Given the description of an element on the screen output the (x, y) to click on. 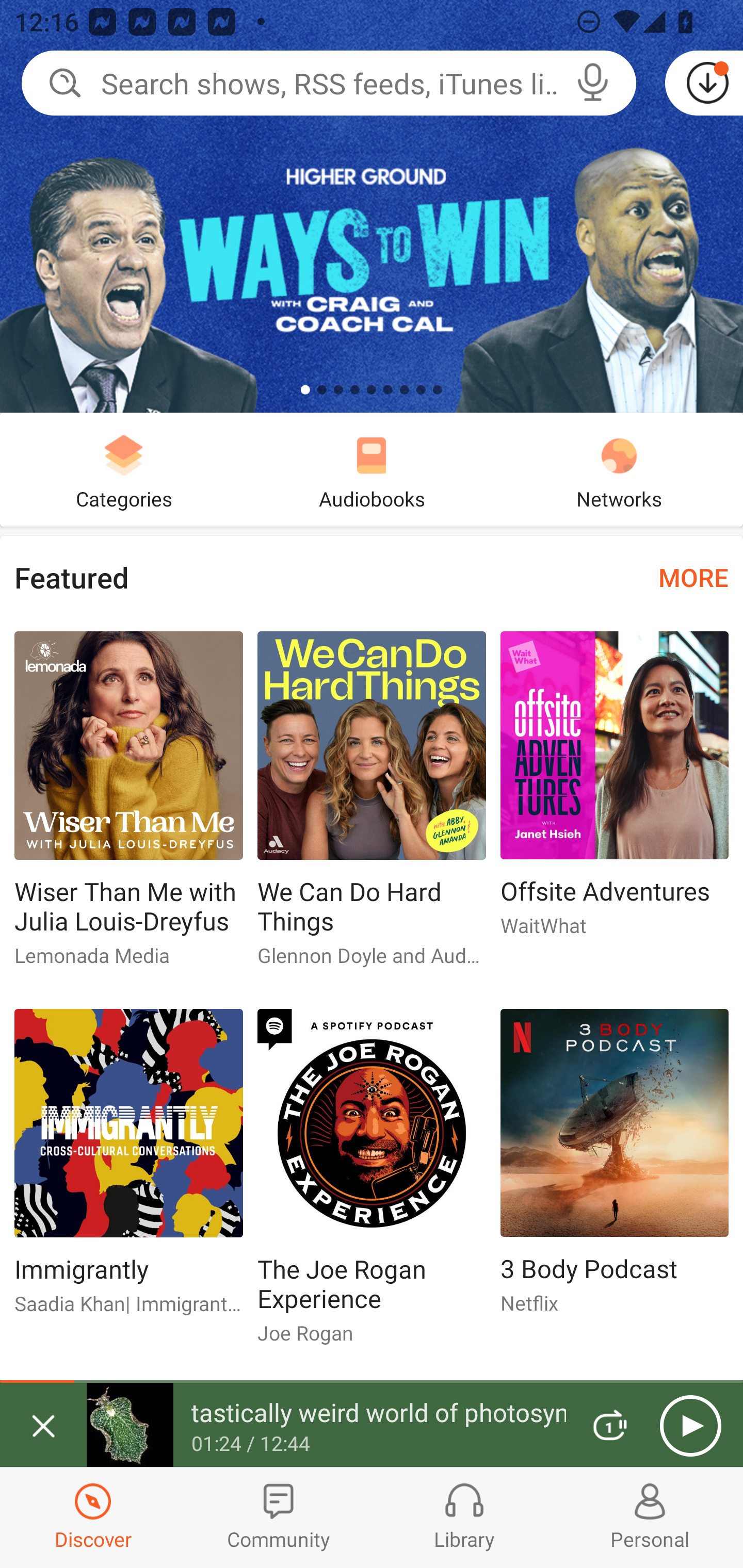
Ways To Win (371, 206)
Categories (123, 469)
Audiobooks (371, 469)
Networks (619, 469)
MORE (693, 576)
Offsite Adventures Offsite Adventures WaitWhat (614, 792)
3 Body Podcast 3 Body Podcast Netflix (614, 1169)
Play (690, 1425)
Discover (92, 1517)
Community (278, 1517)
Library (464, 1517)
Profiles and Settings Personal (650, 1517)
